Given the description of an element on the screen output the (x, y) to click on. 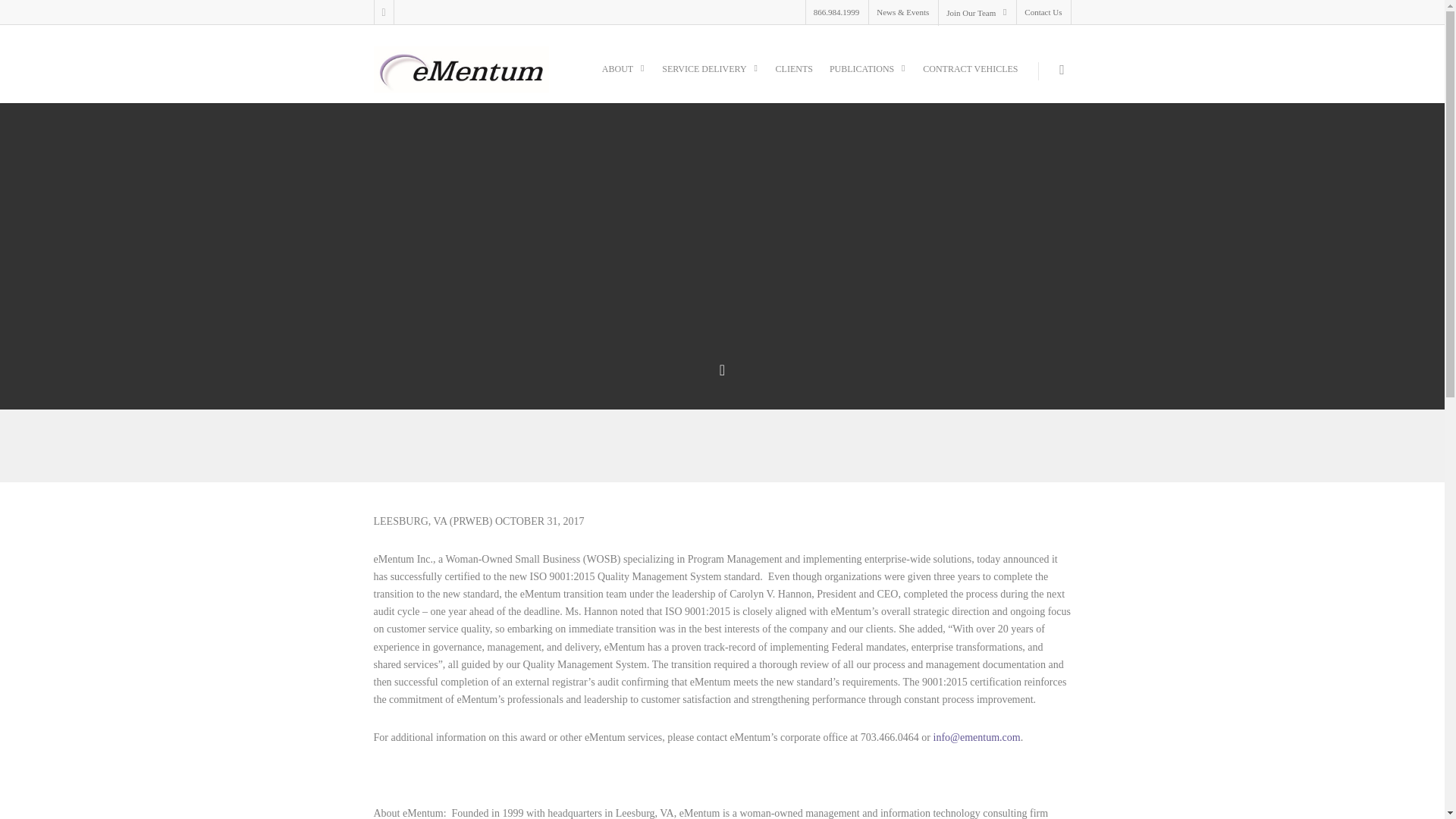
Join Our Team (975, 12)
PUBLICATIONS (868, 74)
ABOUT (623, 74)
Contact Us (1042, 12)
866.984.1999 (836, 12)
CLIENTS (794, 74)
SERVICE DELIVERY (709, 74)
CONTRACT VEHICLES (970, 74)
